Given the description of an element on the screen output the (x, y) to click on. 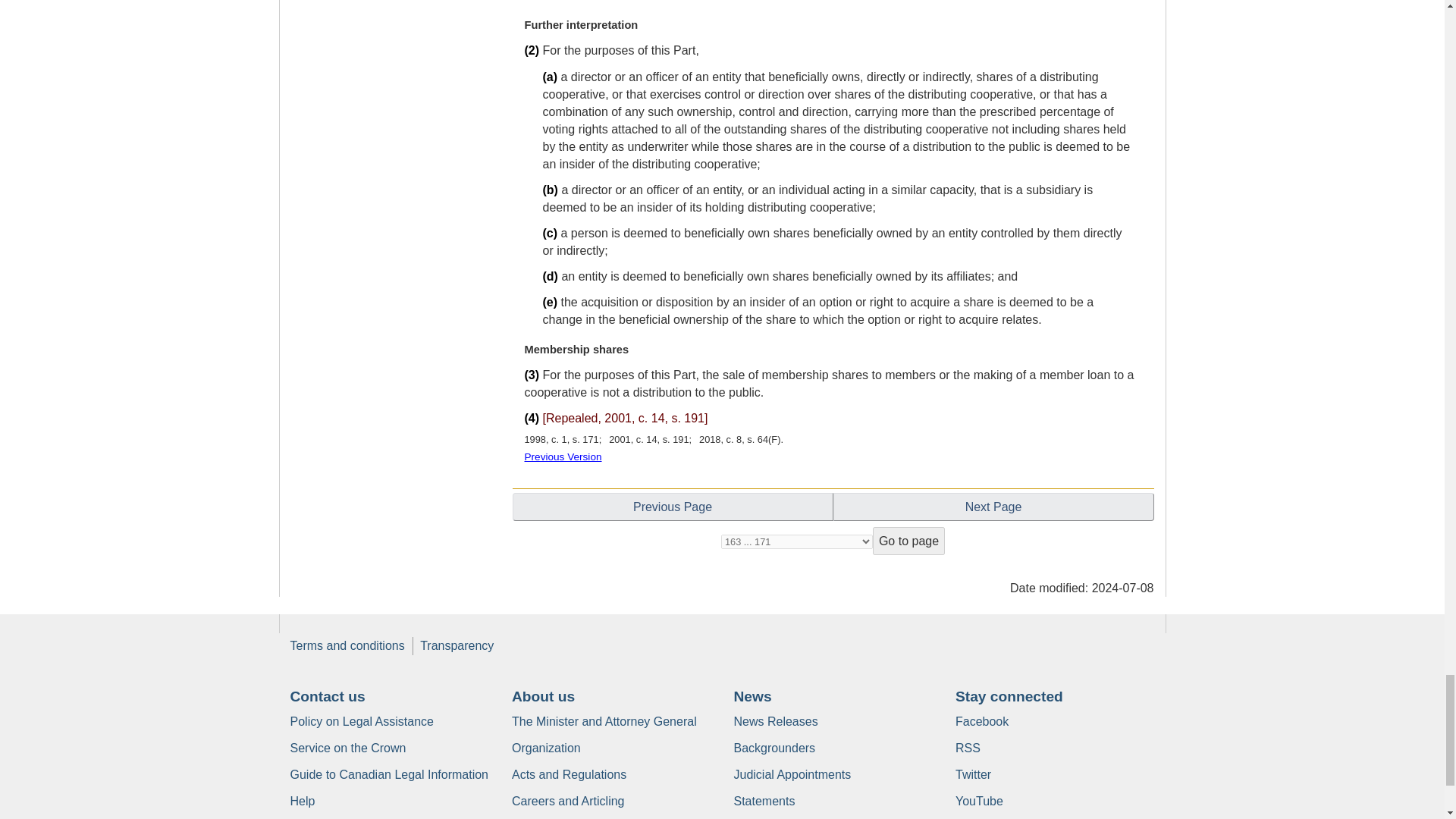
Link to previous version of section 171 (563, 456)
Go to page (908, 541)
Select page (796, 541)
